Given the description of an element on the screen output the (x, y) to click on. 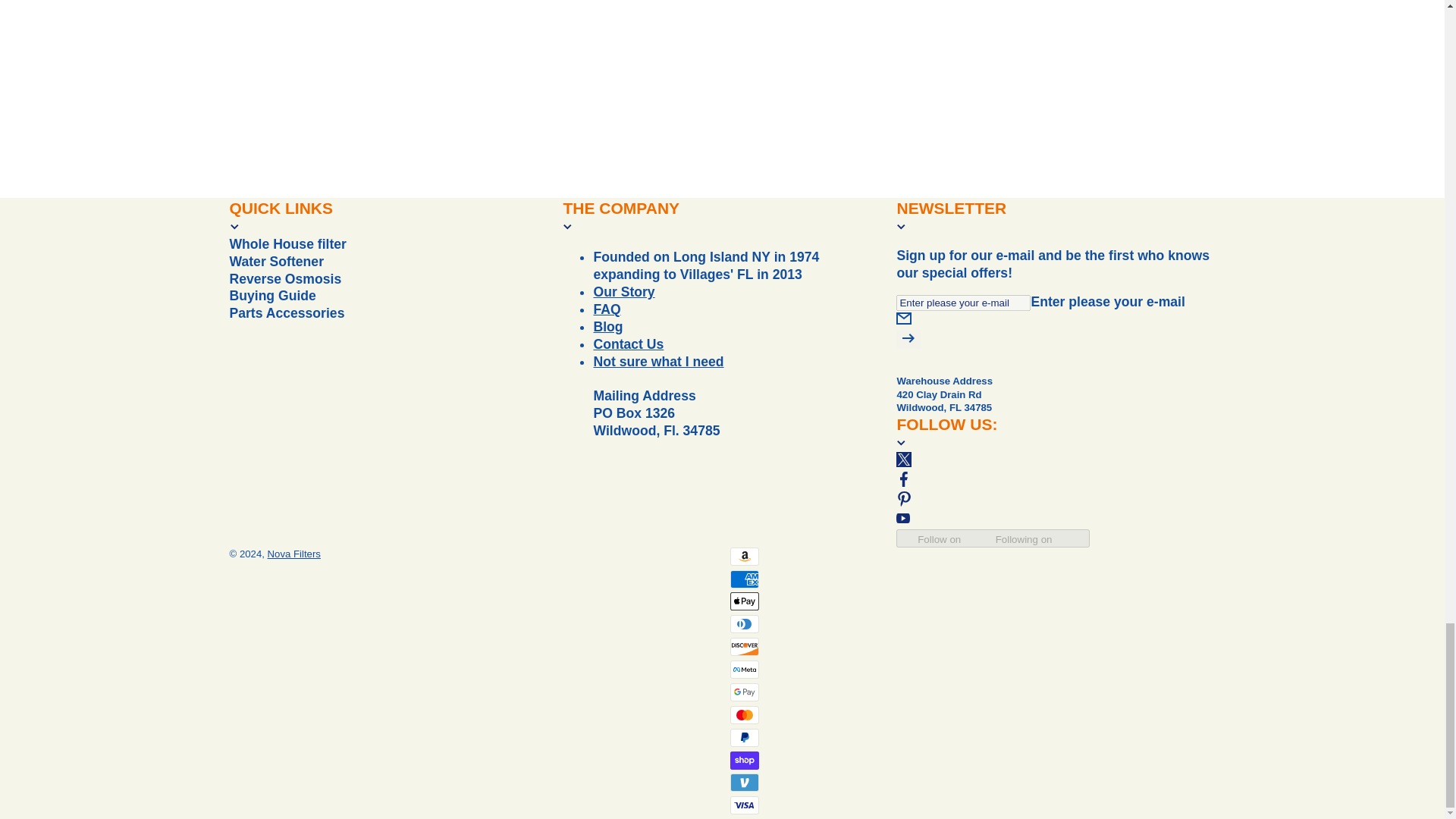
Meta Pay (743, 669)
Read Our Story (622, 291)
Google Pay (743, 692)
Discover (743, 647)
Contact Us (657, 361)
Diners Club (743, 624)
American Express (743, 578)
FAQ's (606, 309)
Blog (607, 326)
Shop Pay (743, 760)
PayPal (743, 737)
Contact Us (627, 344)
Apple Pay (743, 601)
Mastercard (743, 714)
Amazon (743, 556)
